Given the description of an element on the screen output the (x, y) to click on. 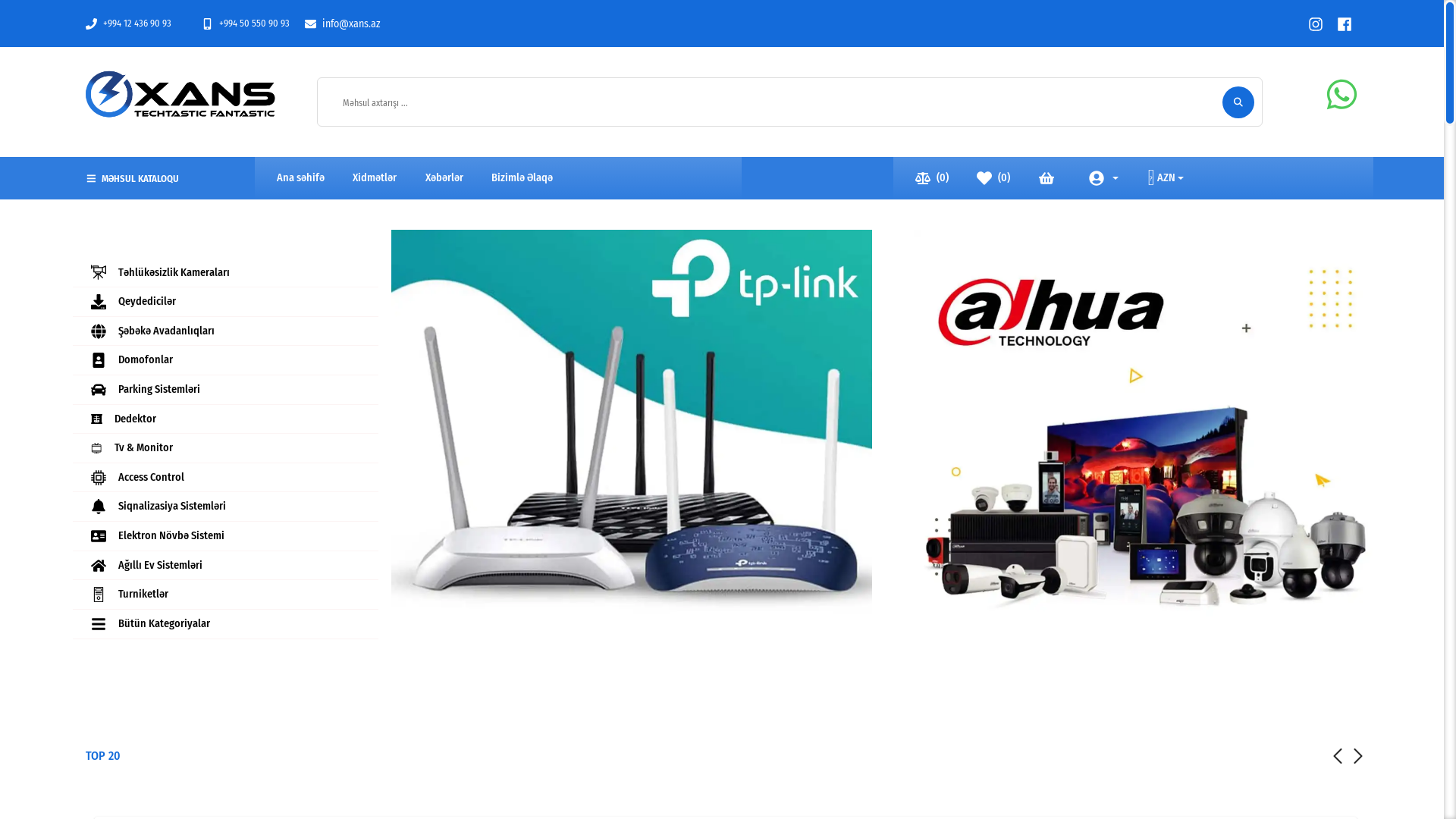
info@xans.az Element type: text (342, 23)
+994 12 436 90 93 Element type: text (128, 23)
+994 50 550 90 93 Element type: text (245, 23)
Dedektor Element type: text (224, 418)
(0) Element type: text (931, 177)
Domofonlar Element type: text (224, 359)
(0) Element type: text (993, 177)
Axtar Element type: hover (1238, 102)
Tv & Monitor Element type: text (224, 447)
TOP 20 Element type: text (102, 755)
Access Control Element type: text (224, 477)
